Given the description of an element on the screen output the (x, y) to click on. 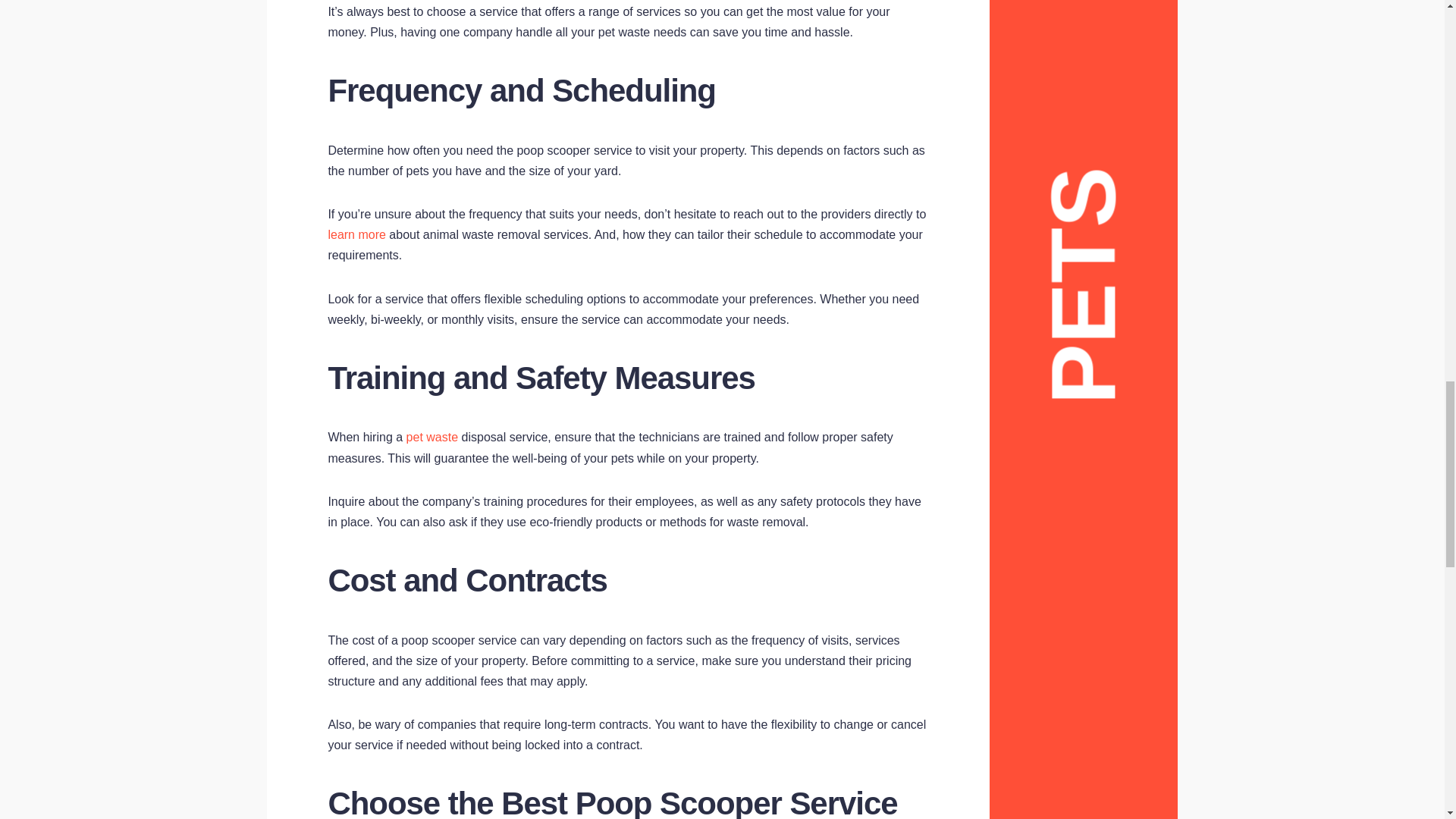
learn more (356, 234)
pet waste (432, 436)
